Given the description of an element on the screen output the (x, y) to click on. 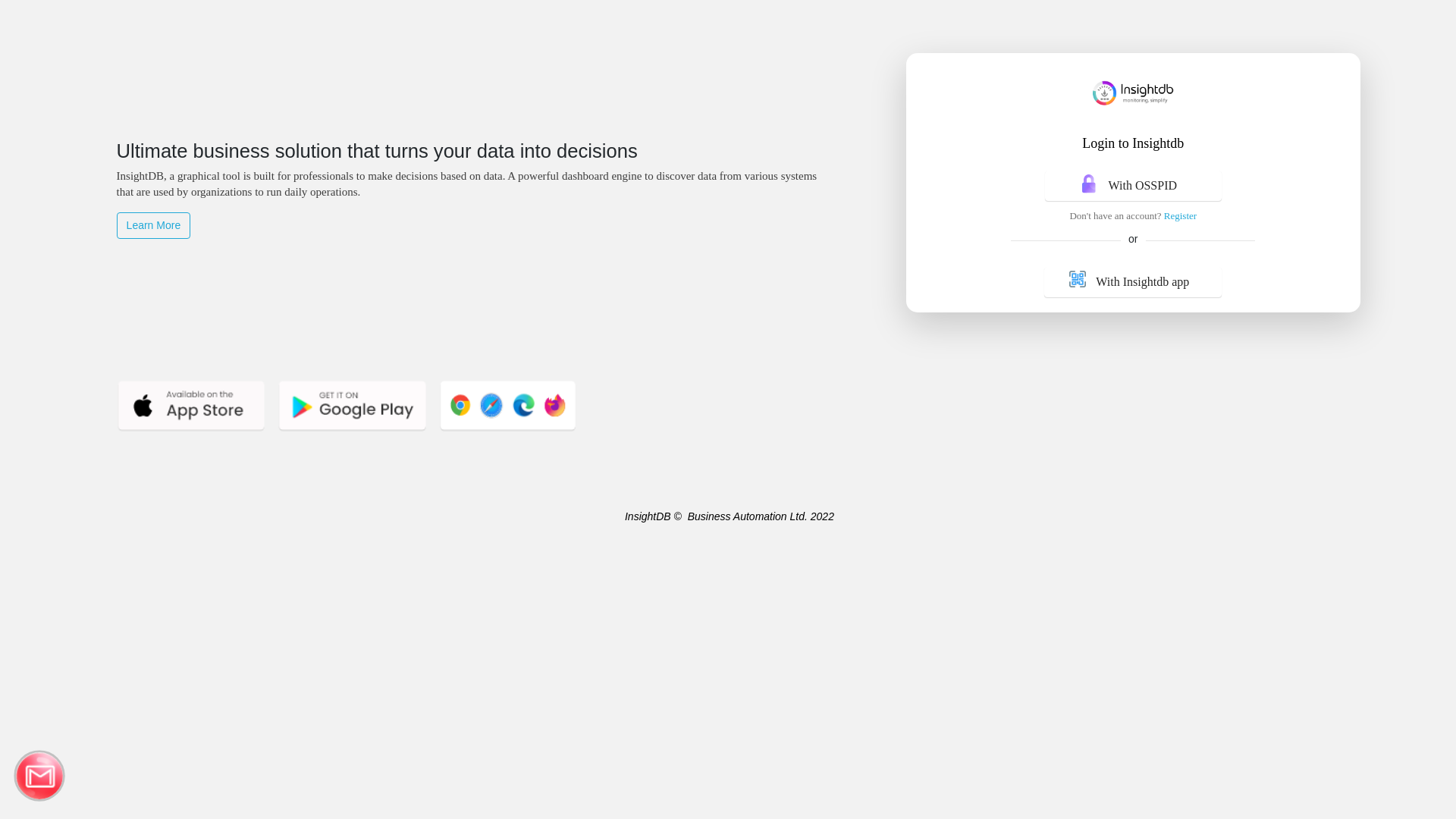
With Insightdb app Element type: text (1132, 281)
Learn More Element type: text (153, 225)
Register Element type: text (1180, 215)
With OSSPID Element type: text (1132, 185)
